Given the description of an element on the screen output the (x, y) to click on. 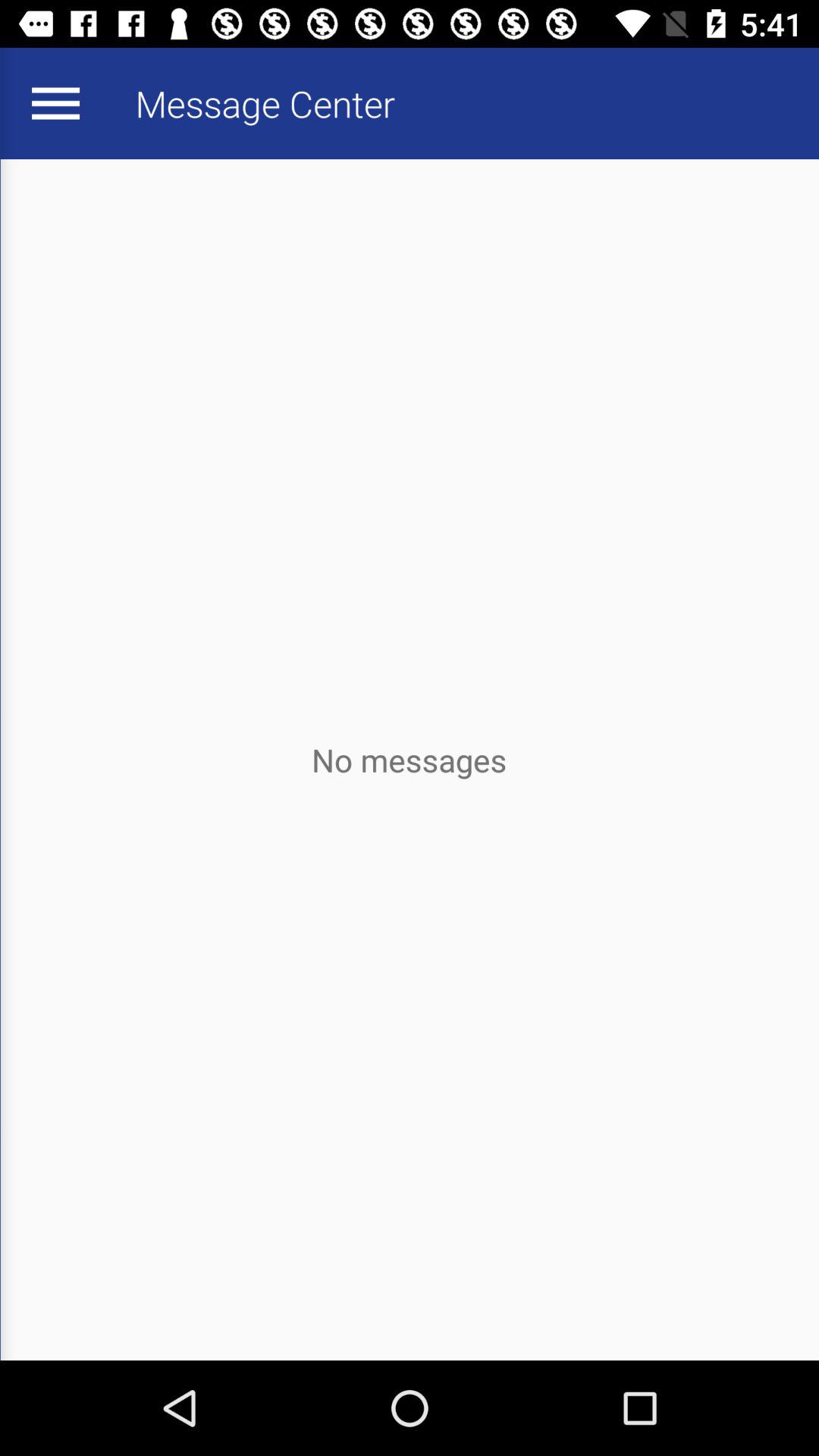
launch the item next to message center app (55, 103)
